Given the description of an element on the screen output the (x, y) to click on. 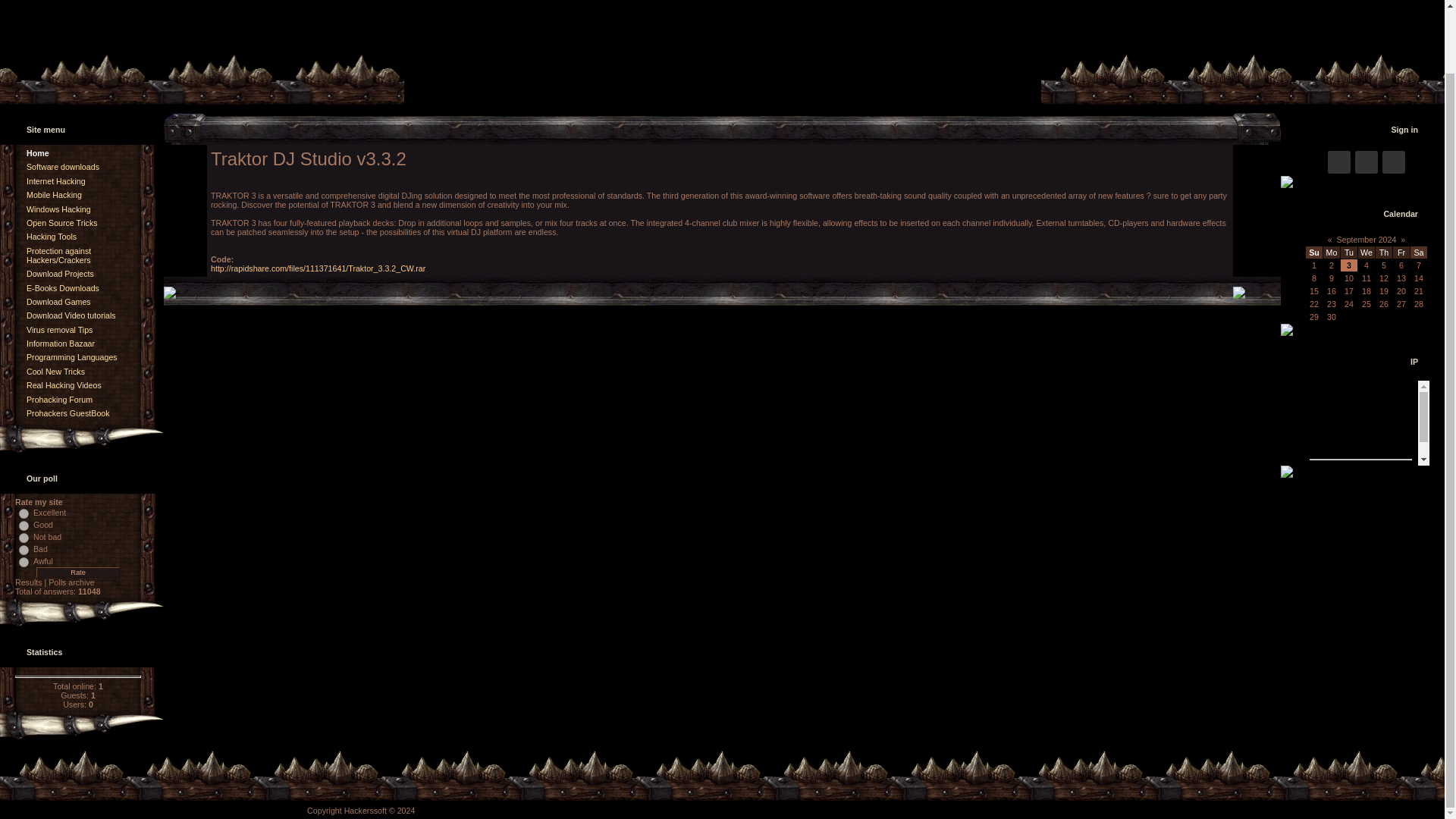
Rate (77, 572)
Hacking Tools (51, 235)
Mobile Hacking (53, 194)
Log in with Google (1393, 162)
Real Hacking Videos (63, 384)
1 (23, 513)
Virus removal Tips (59, 329)
5 (23, 562)
Software downloads (62, 166)
Polls archive (71, 582)
